Given the description of an element on the screen output the (x, y) to click on. 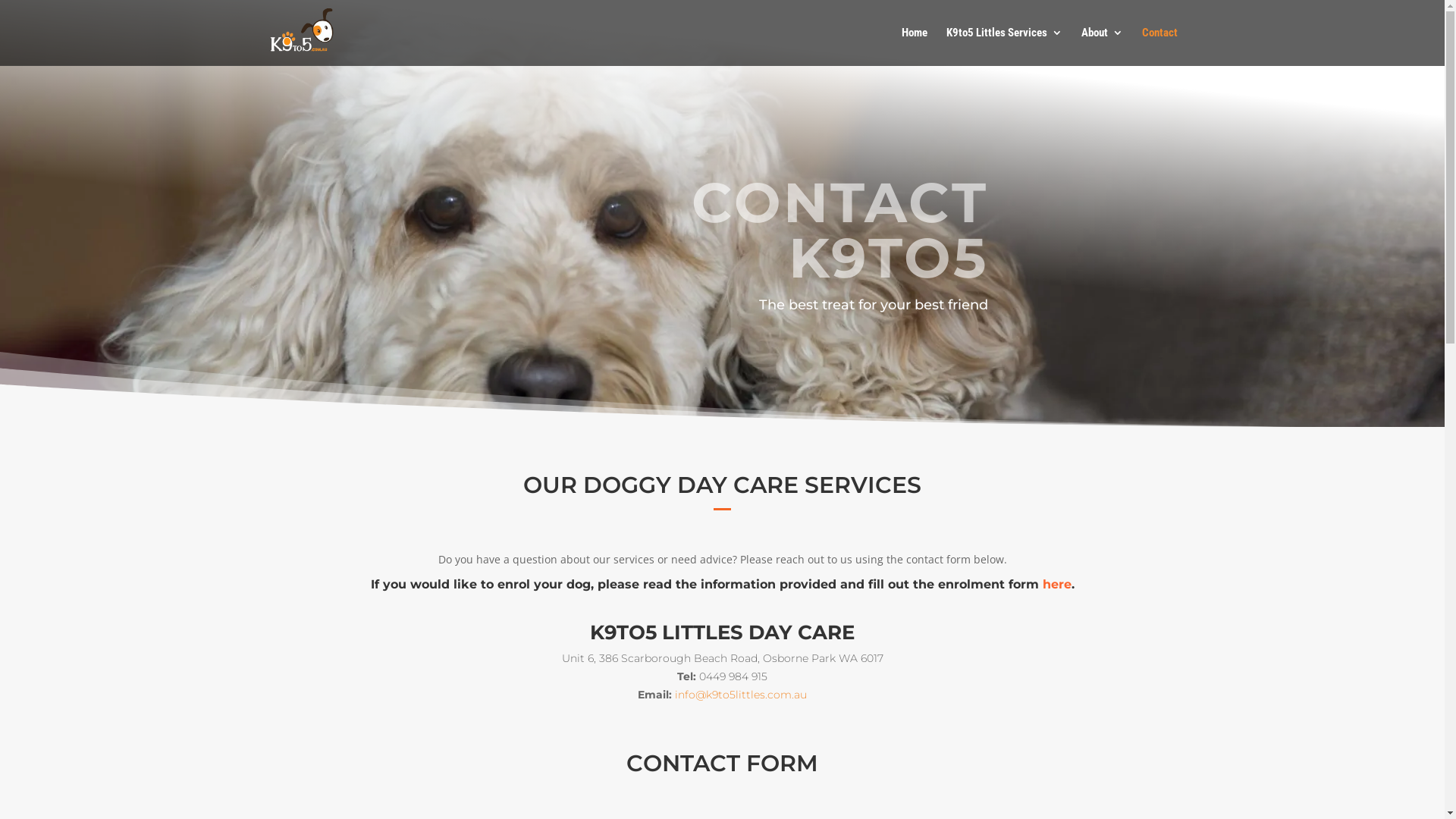
here Element type: text (1055, 584)
Home Element type: text (913, 46)
K9to5 Littles Services Element type: text (1004, 46)
info@k9to5littles.com.au Element type: text (740, 694)
About Element type: text (1102, 46)
Contact Element type: text (1159, 46)
